Given the description of an element on the screen output the (x, y) to click on. 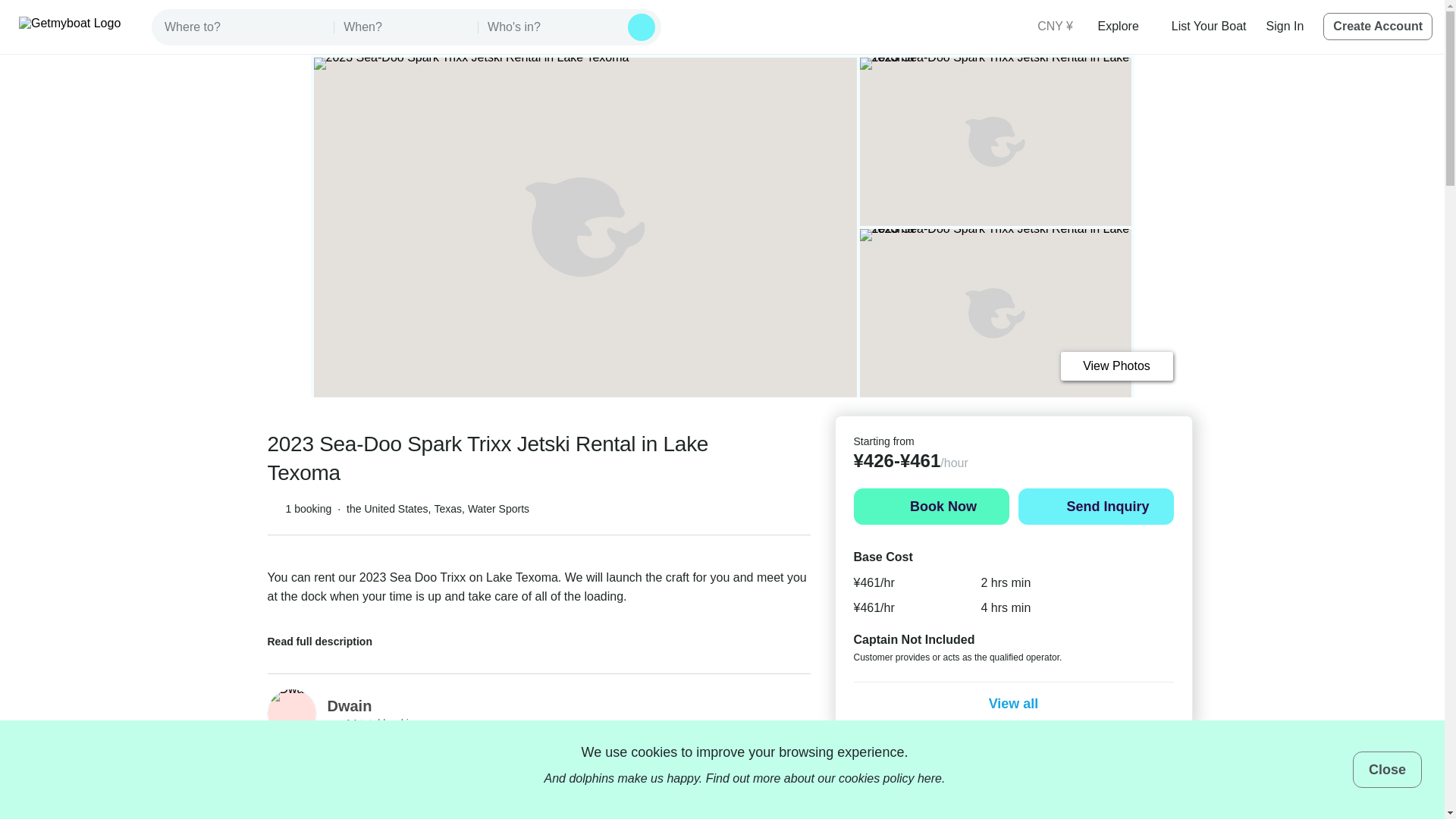
Book Now (931, 506)
Explore (1123, 25)
Sign In (1285, 26)
Close (1387, 769)
Read full description (329, 637)
Search (641, 26)
Send Inquiry (1095, 506)
cookies policy here (890, 778)
Create Account (1377, 26)
View Photos (1115, 366)
